Given the description of an element on the screen output the (x, y) to click on. 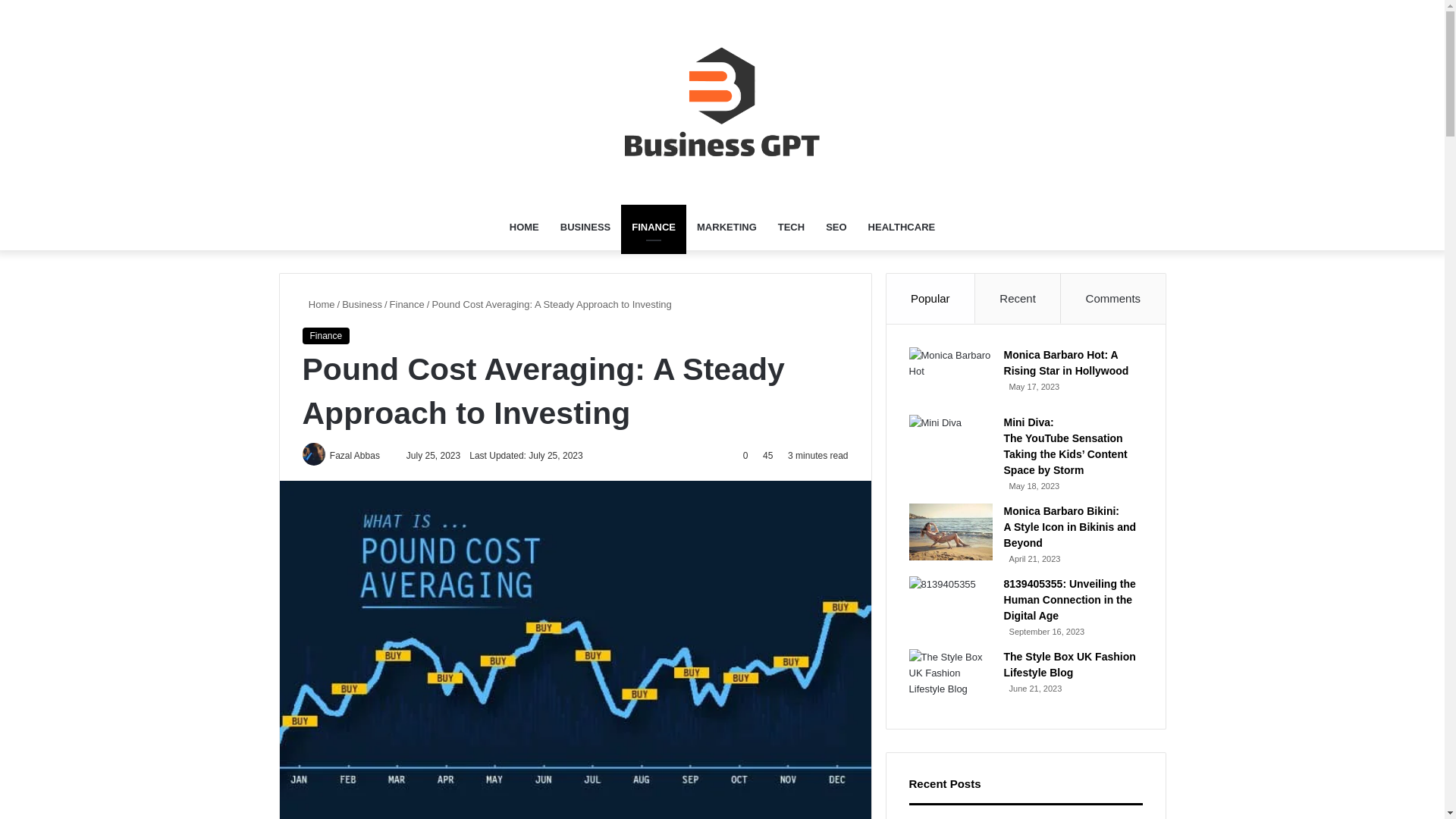
Finance (407, 304)
FINANCE (653, 227)
HEALTHCARE (901, 227)
TECH (791, 227)
Business GPT (722, 102)
SEO (836, 227)
HOME (524, 227)
Home (317, 304)
MARKETING (726, 227)
Finance (325, 335)
